Given the description of an element on the screen output the (x, y) to click on. 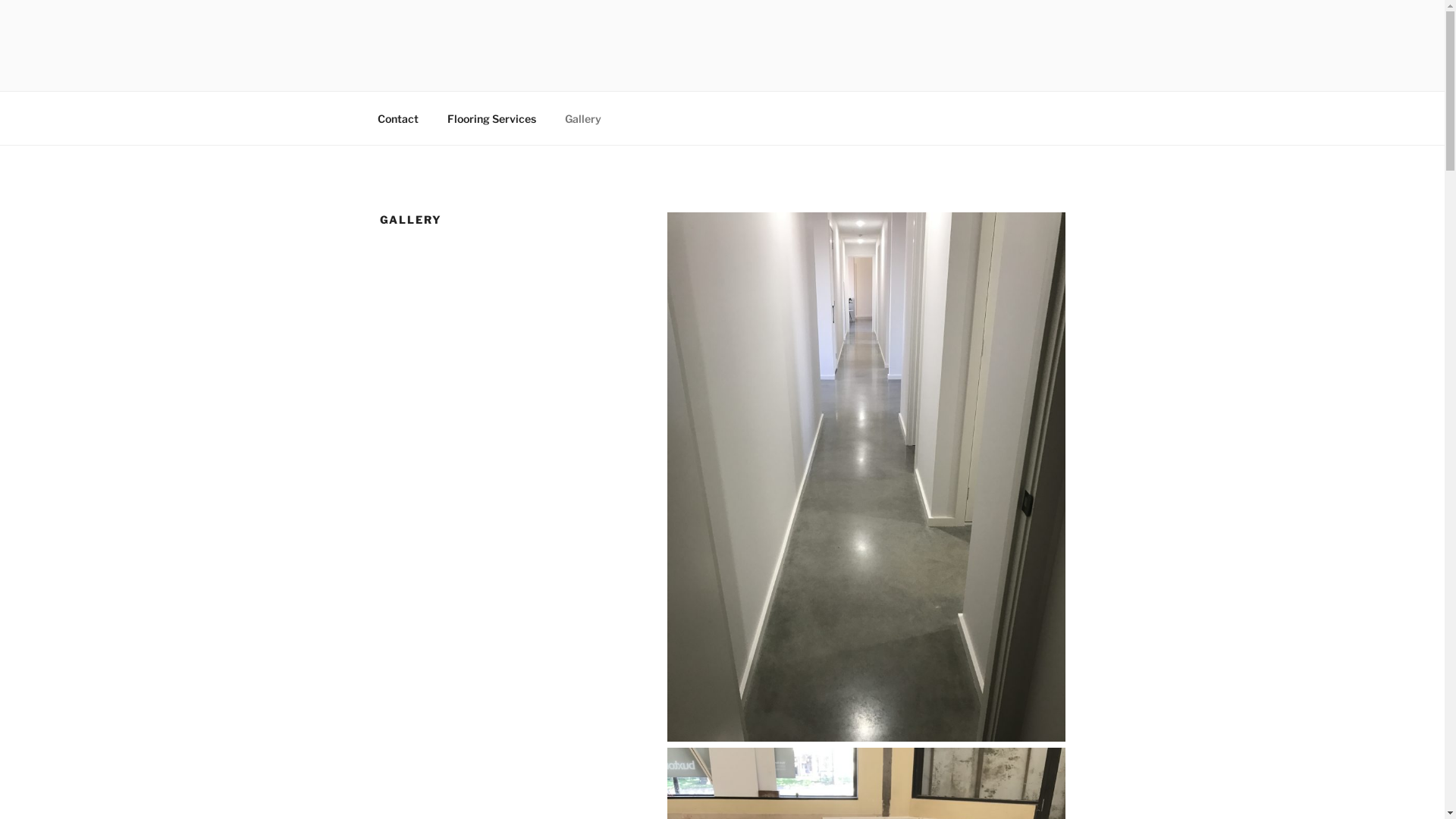
Gallery Element type: text (583, 118)
Contact Element type: text (397, 118)
Flooring Services Element type: text (491, 118)
Skip to content Element type: text (0, 0)
